Given the description of an element on the screen output the (x, y) to click on. 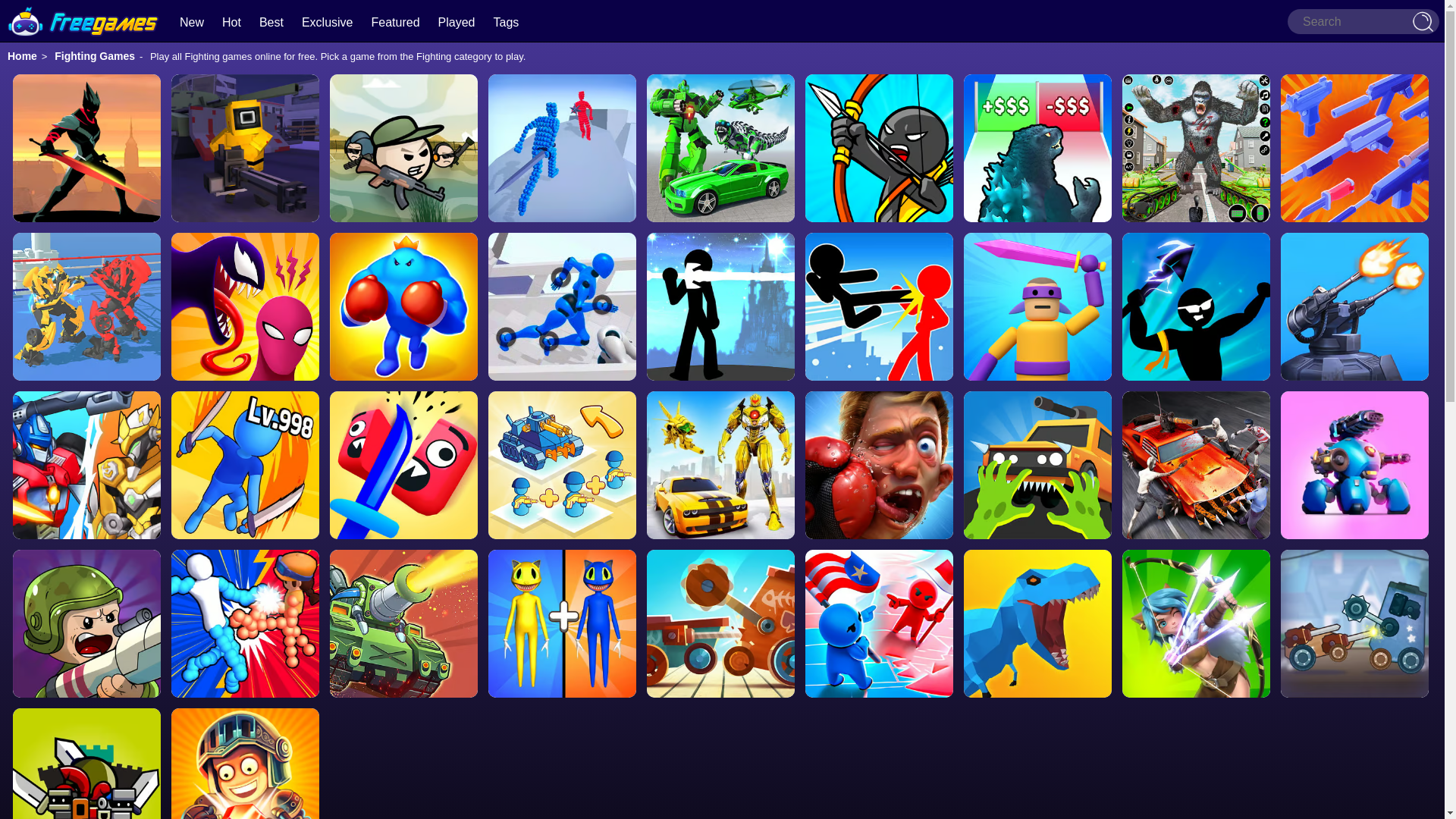
Hot (231, 21)
Best (271, 21)
Played (457, 21)
Home (22, 55)
Tags (505, 21)
New (191, 21)
Exclusive (327, 21)
Featured (395, 21)
